Given the description of an element on the screen output the (x, y) to click on. 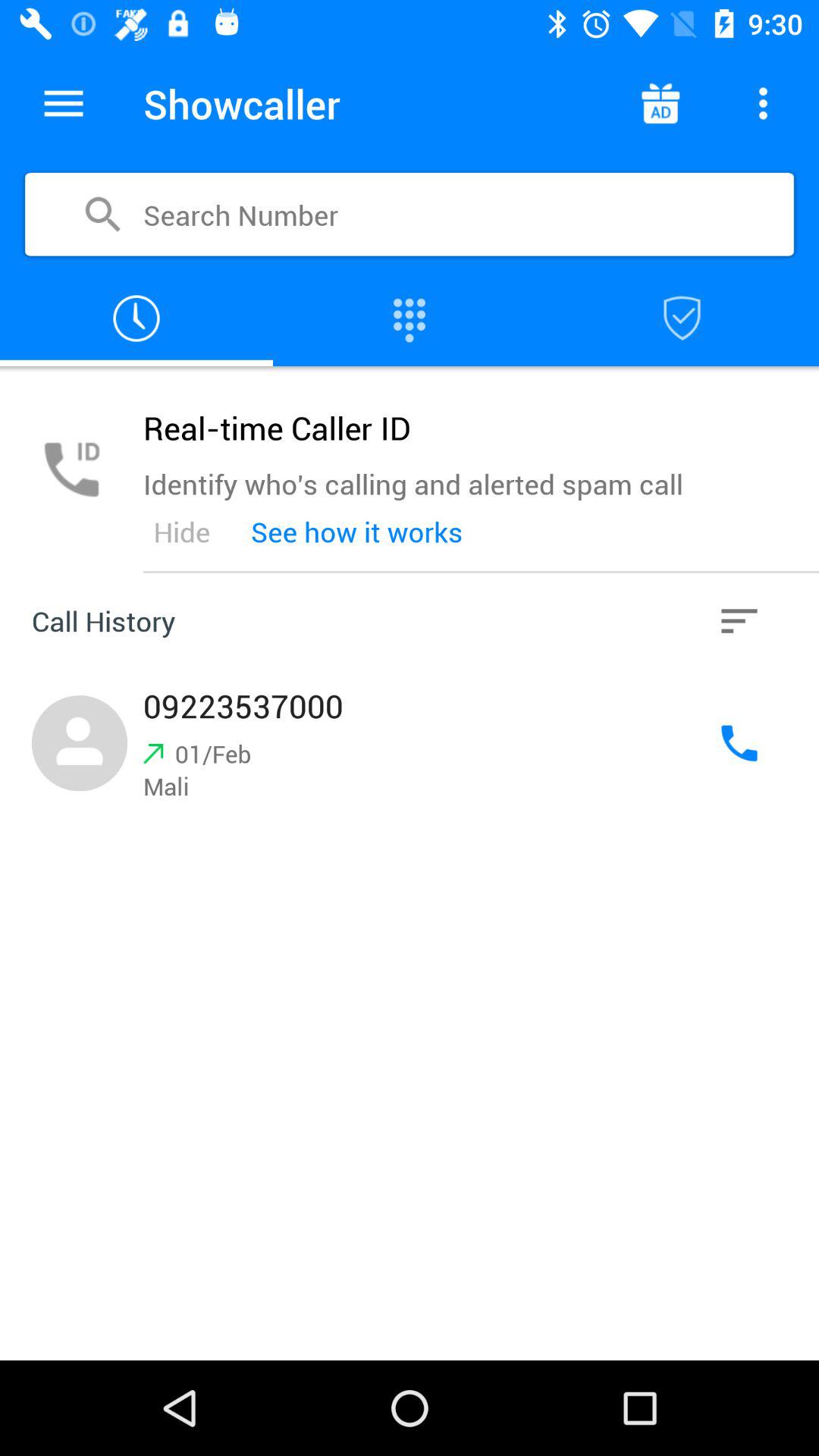
dial phone number (409, 743)
